Given the description of an element on the screen output the (x, y) to click on. 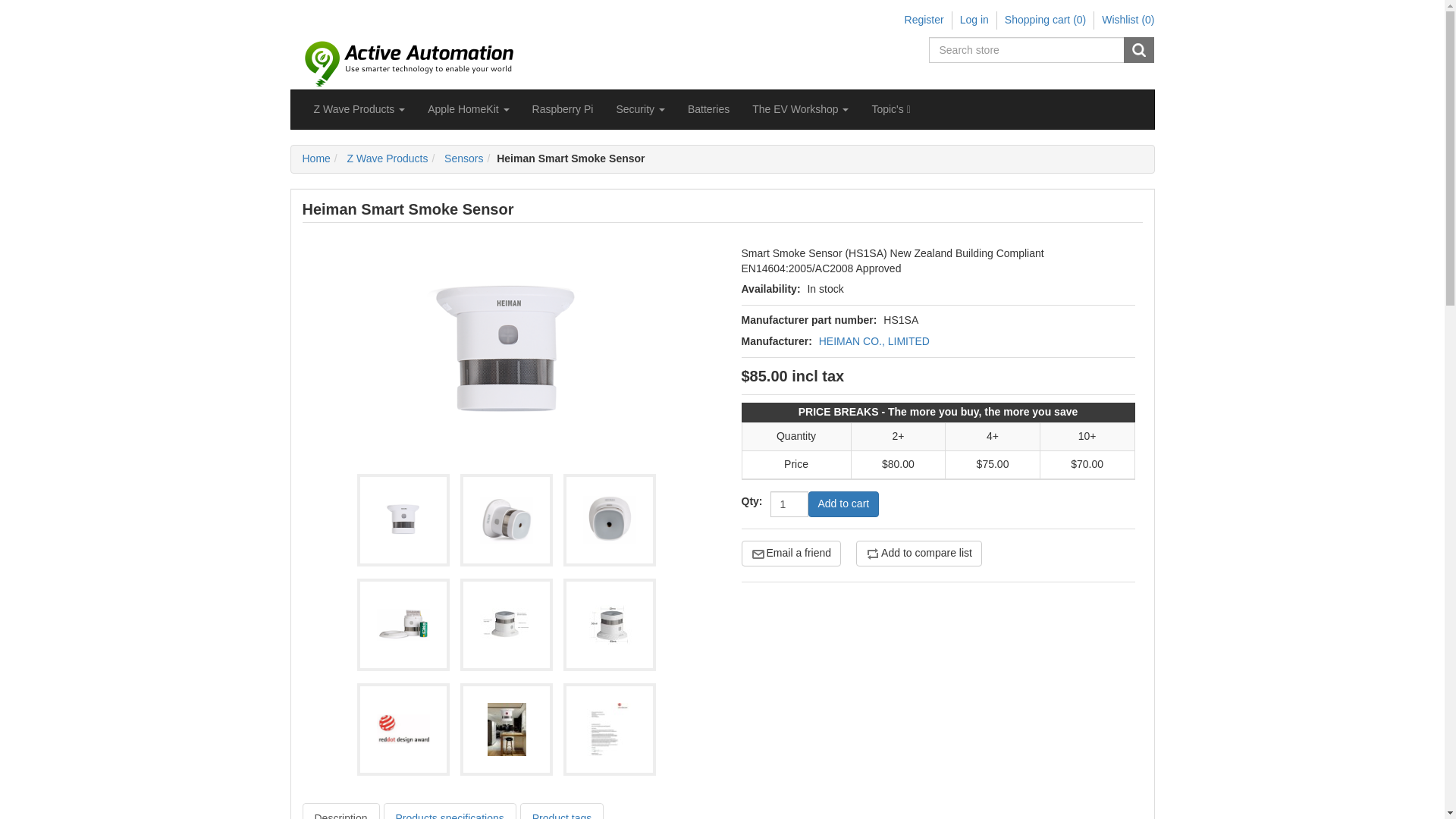
Z Wave Products (385, 158)
Picture of Heiman Smart Smoke Sensor (402, 624)
Picture of Heiman Smart Smoke Sensor (402, 729)
Picture of Heiman Smart Smoke Sensor (506, 729)
Log in (974, 20)
Apple HomeKit (467, 108)
Picture of Heiman Smart Smoke Sensor (402, 520)
Z Wave Products (358, 108)
Picture of Heiman Smart Smoke Sensor (403, 729)
Picture of Heiman Smart Smoke Sensor (403, 624)
